Given the description of an element on the screen output the (x, y) to click on. 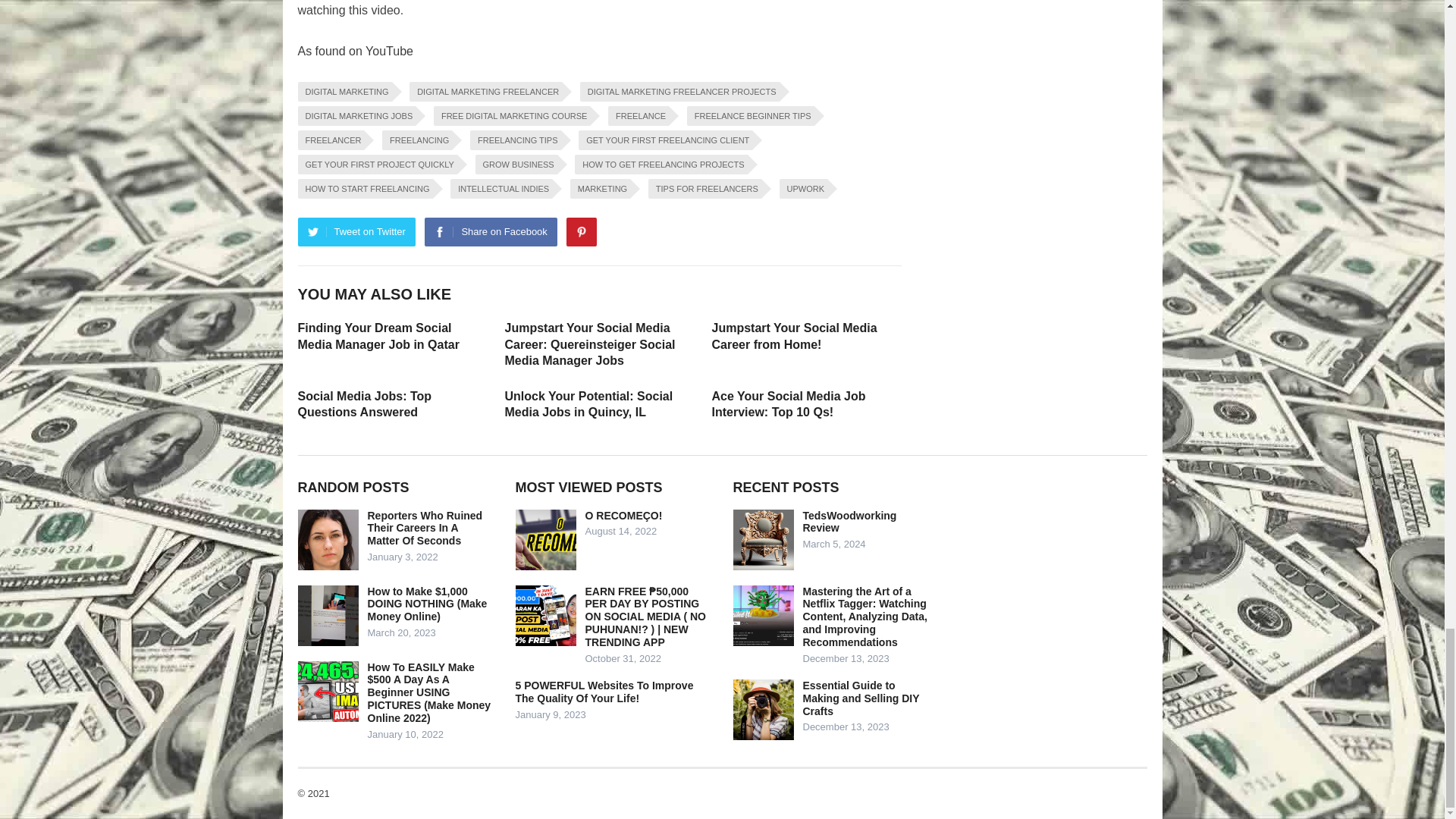
Reporters Who Ruined Their Careers In A Matter Of Seconds 9 (327, 539)
FREELANCING TIPS (515, 139)
DIGITAL MARKETING JOBS (355, 116)
GROW BUSINESS (516, 164)
As found on YouTube (354, 51)
DIGITAL MARKETING FREELANCER (485, 91)
FREELANCE (638, 116)
FREELANCE BEGINNER TIPS (750, 116)
DIGITAL MARKETING FREELANCER PROJECTS (678, 91)
DIGITAL MARKETING (344, 91)
TedsWoodworking Review 14 (762, 539)
FREELANCER (330, 139)
FREELANCING (416, 139)
FREE DIGITAL MARKETING COURSE (512, 116)
GET YOUR FIRST PROJECT QUICKLY (377, 164)
